Given the description of an element on the screen output the (x, y) to click on. 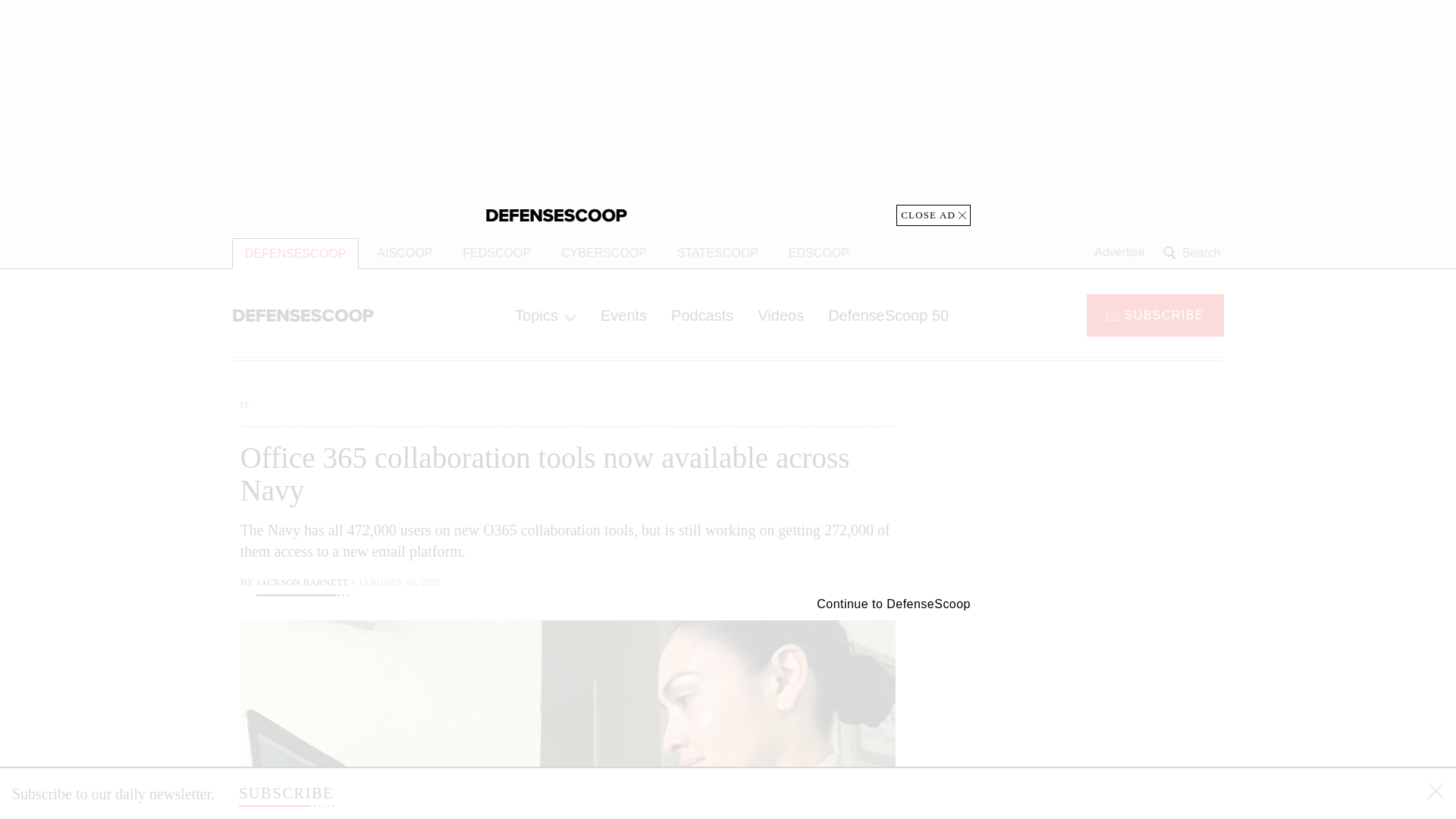
FEDSCOOP (496, 253)
Search (1193, 252)
Events (623, 315)
DEFENSESCOOP (294, 253)
JACKSON BARNETT (302, 583)
3rd party ad content (727, 112)
Jackson Barnett (302, 583)
Advertise (1119, 252)
3rd party ad content (1101, 706)
Podcasts (702, 315)
AISCOOP (404, 253)
SUBSCRIBE (1155, 314)
CYBERSCOOP (603, 253)
